Given the description of an element on the screen output the (x, y) to click on. 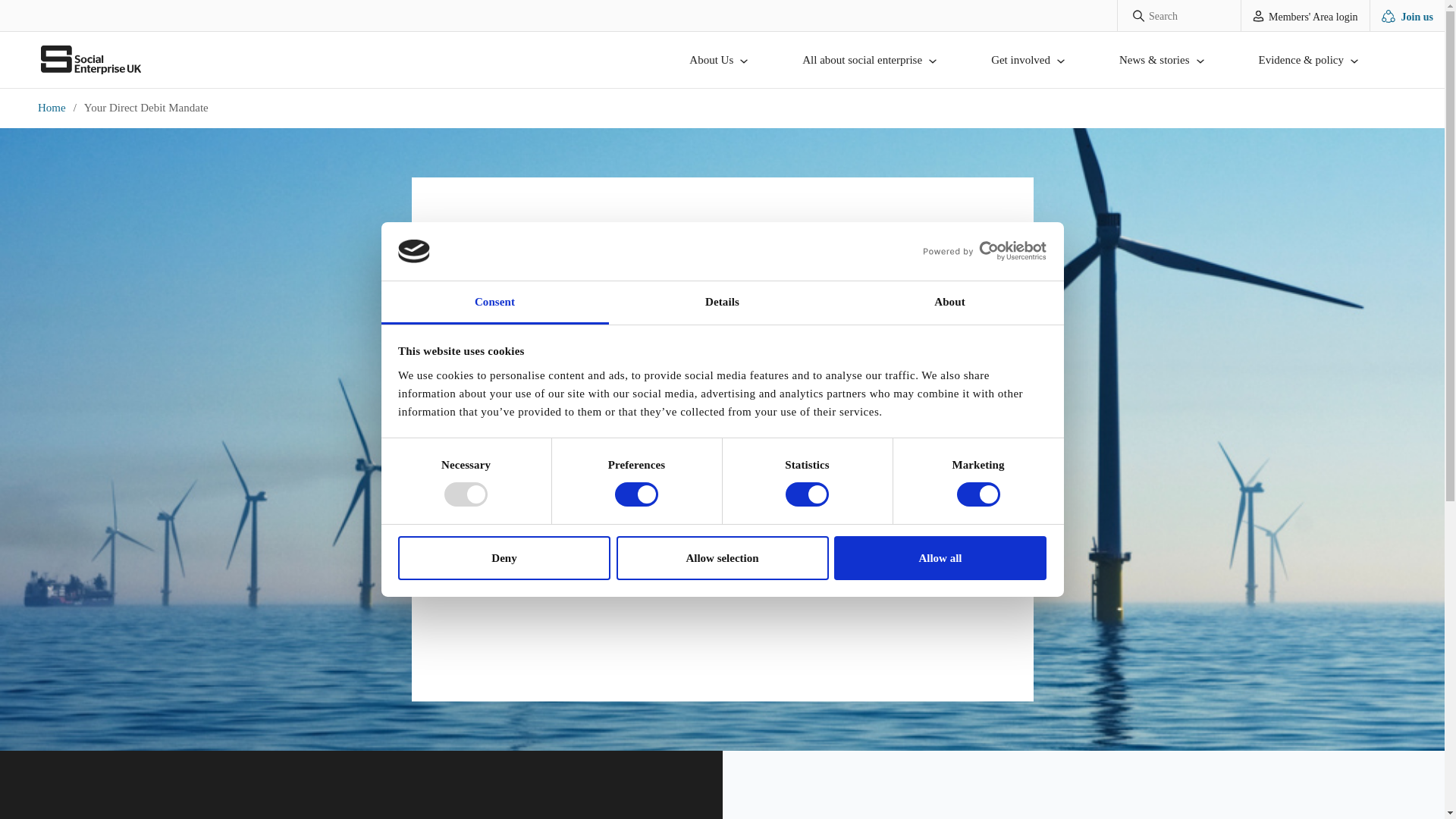
About (948, 302)
Consent (494, 302)
Details (721, 302)
Go to Social Enterprise UK. (55, 107)
